Given the description of an element on the screen output the (x, y) to click on. 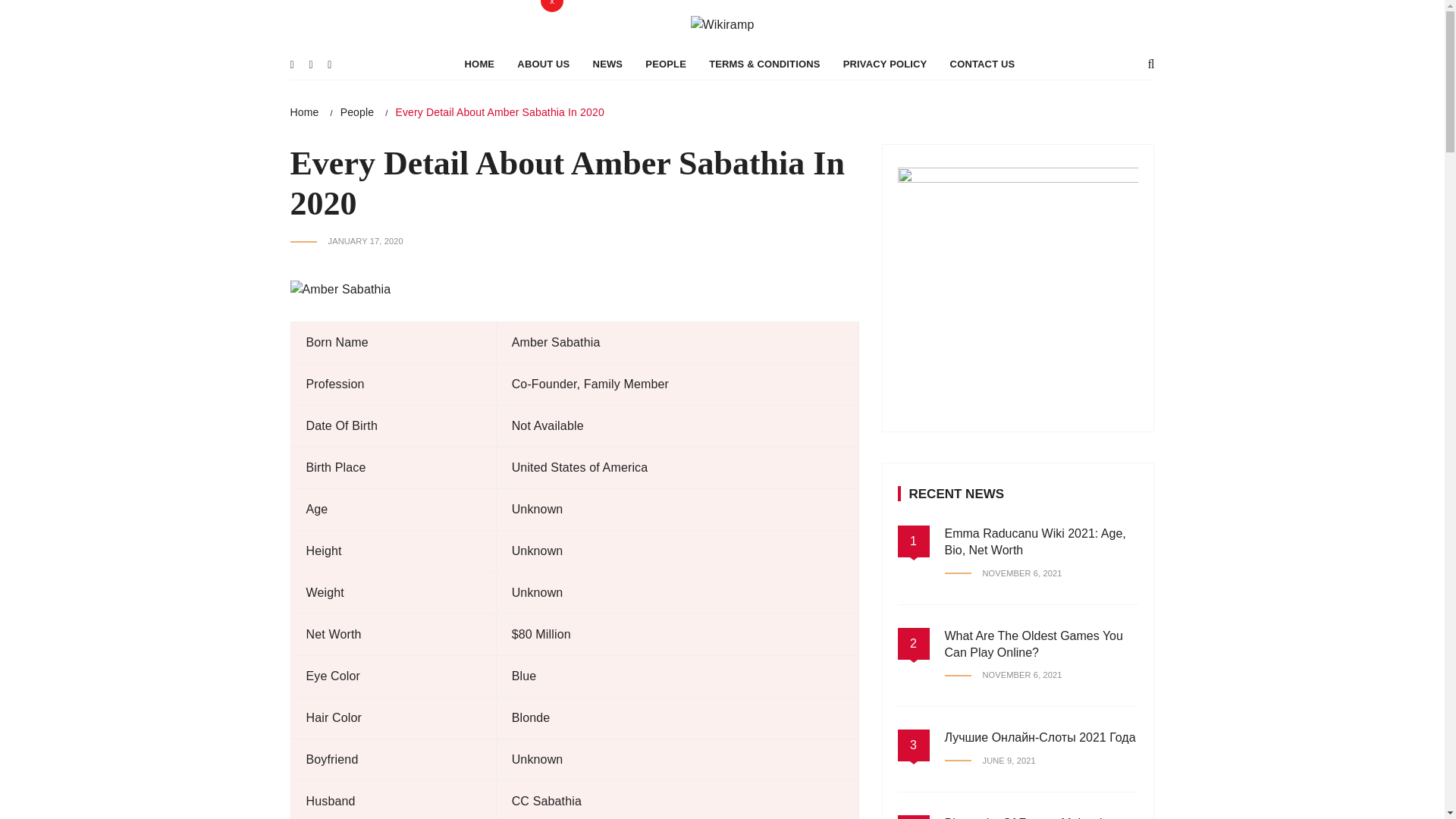
ABOUT US (542, 137)
Search (420, 15)
NOVEMBER 6, 2021 (1003, 748)
PRIVACY POLICY (885, 137)
NOVEMBER 6, 2021 (1003, 646)
HOME (479, 137)
Home (303, 185)
People (357, 185)
CONTACT US (982, 137)
Emma Raducanu Wiki 2021: Age, Bio, Net Worth (1034, 614)
NEWS (607, 137)
What Are The Oldest Games You Can Play Online? (1033, 717)
PEOPLE (665, 137)
JANUARY 17, 2020 (346, 315)
